Given the description of an element on the screen output the (x, y) to click on. 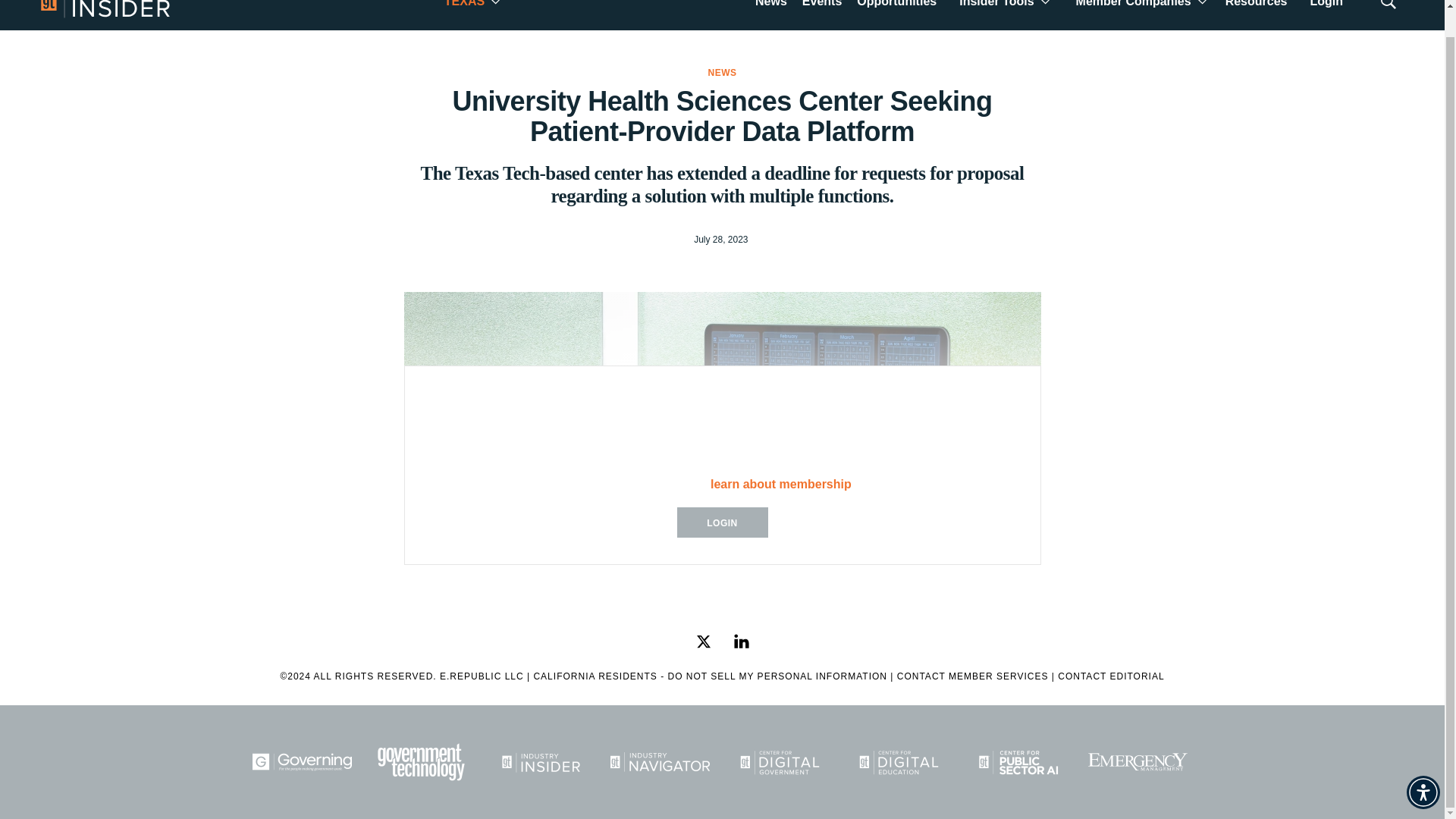
News (771, 9)
Accessibility Menu (1422, 765)
Opportunities (895, 9)
Events (821, 9)
